Given the description of an element on the screen output the (x, y) to click on. 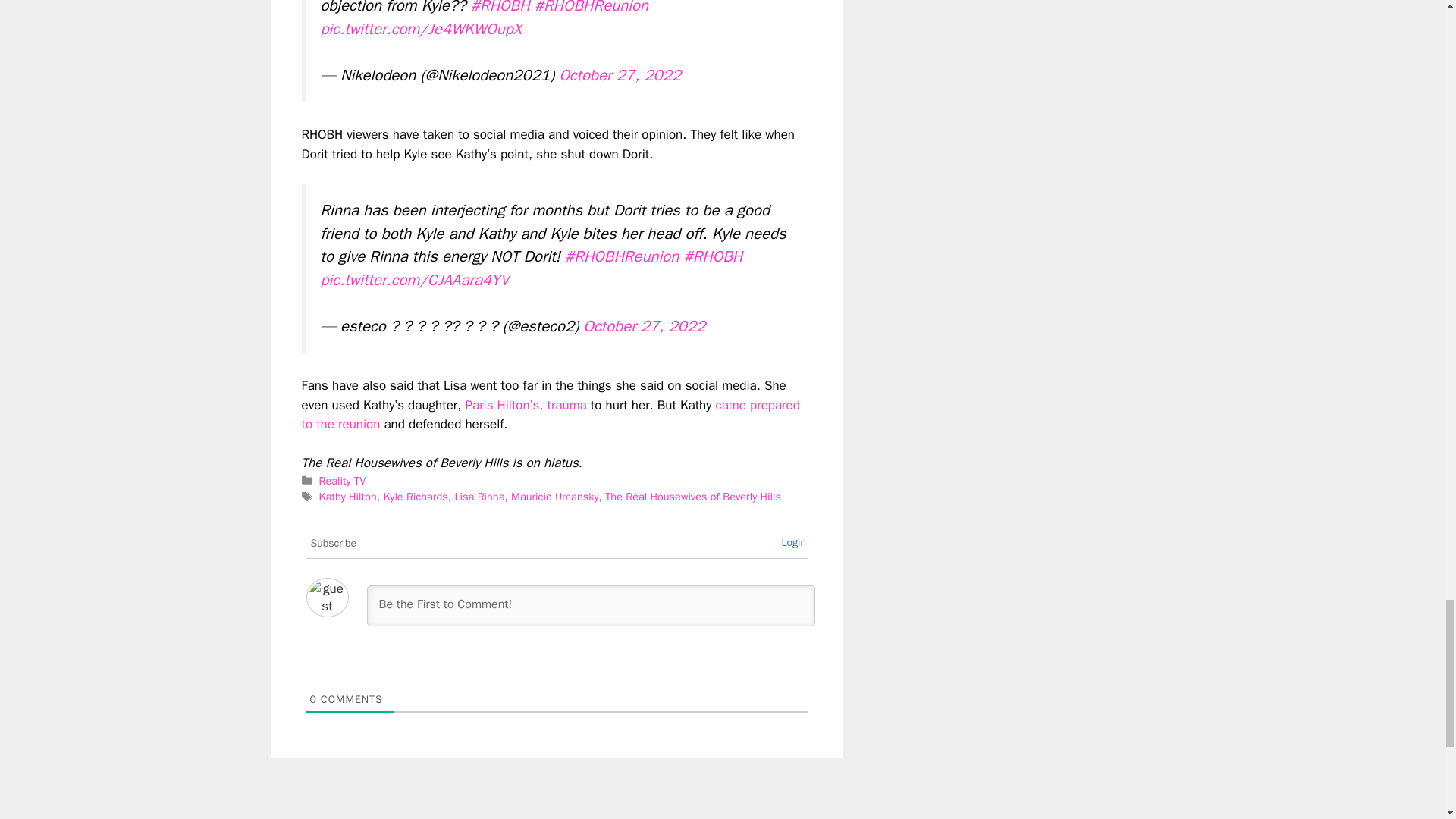
came prepared to the reunion (550, 415)
October 27, 2022 (644, 325)
Kathy Hilton (347, 496)
Reality TV (342, 480)
October 27, 2022 (620, 75)
